Given the description of an element on the screen output the (x, y) to click on. 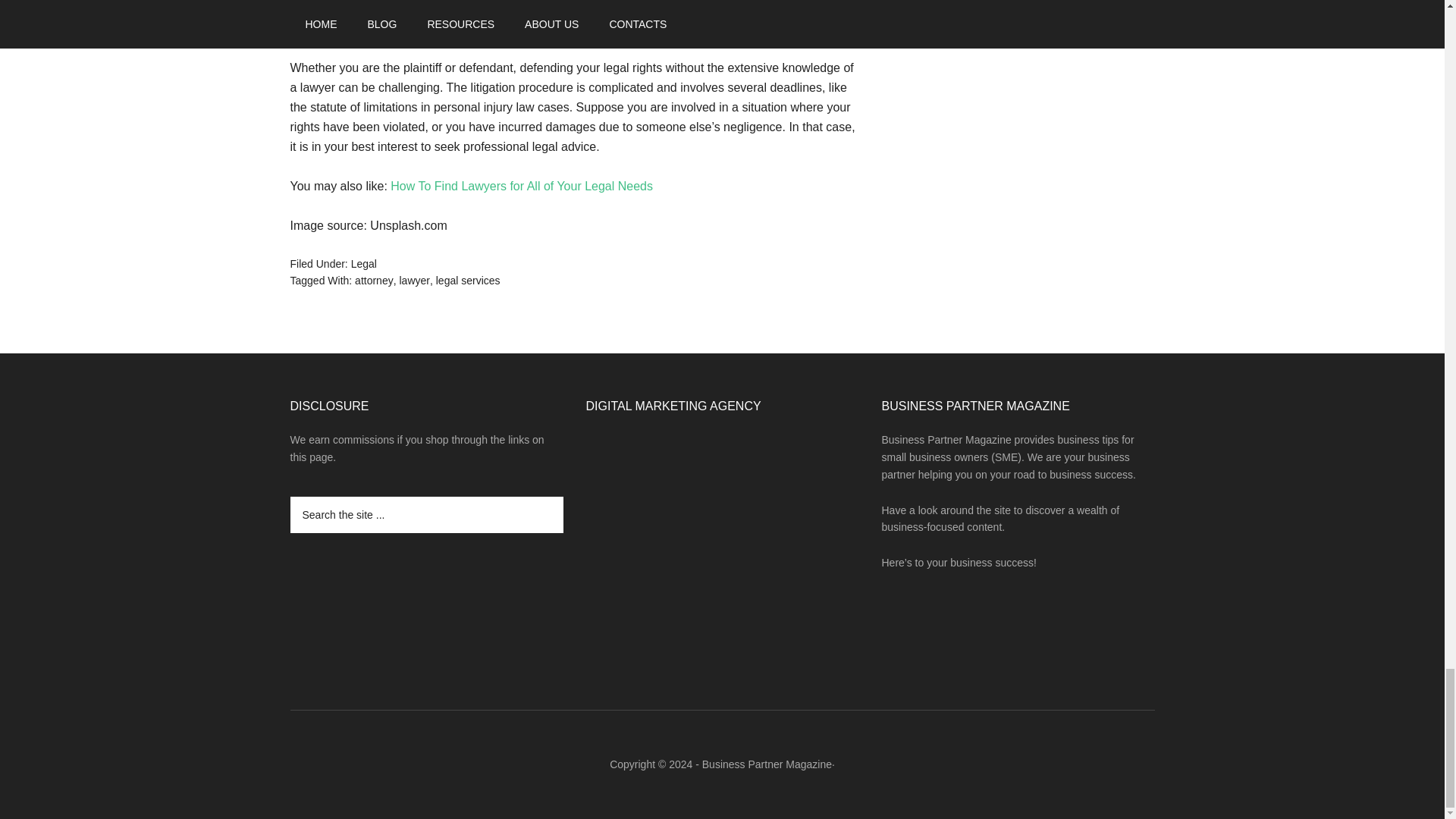
How To Find Lawyers for All of Your Legal Needs (521, 185)
lawyer (413, 280)
legal services (467, 280)
Legal (363, 263)
attorney (374, 280)
